Given the description of an element on the screen output the (x, y) to click on. 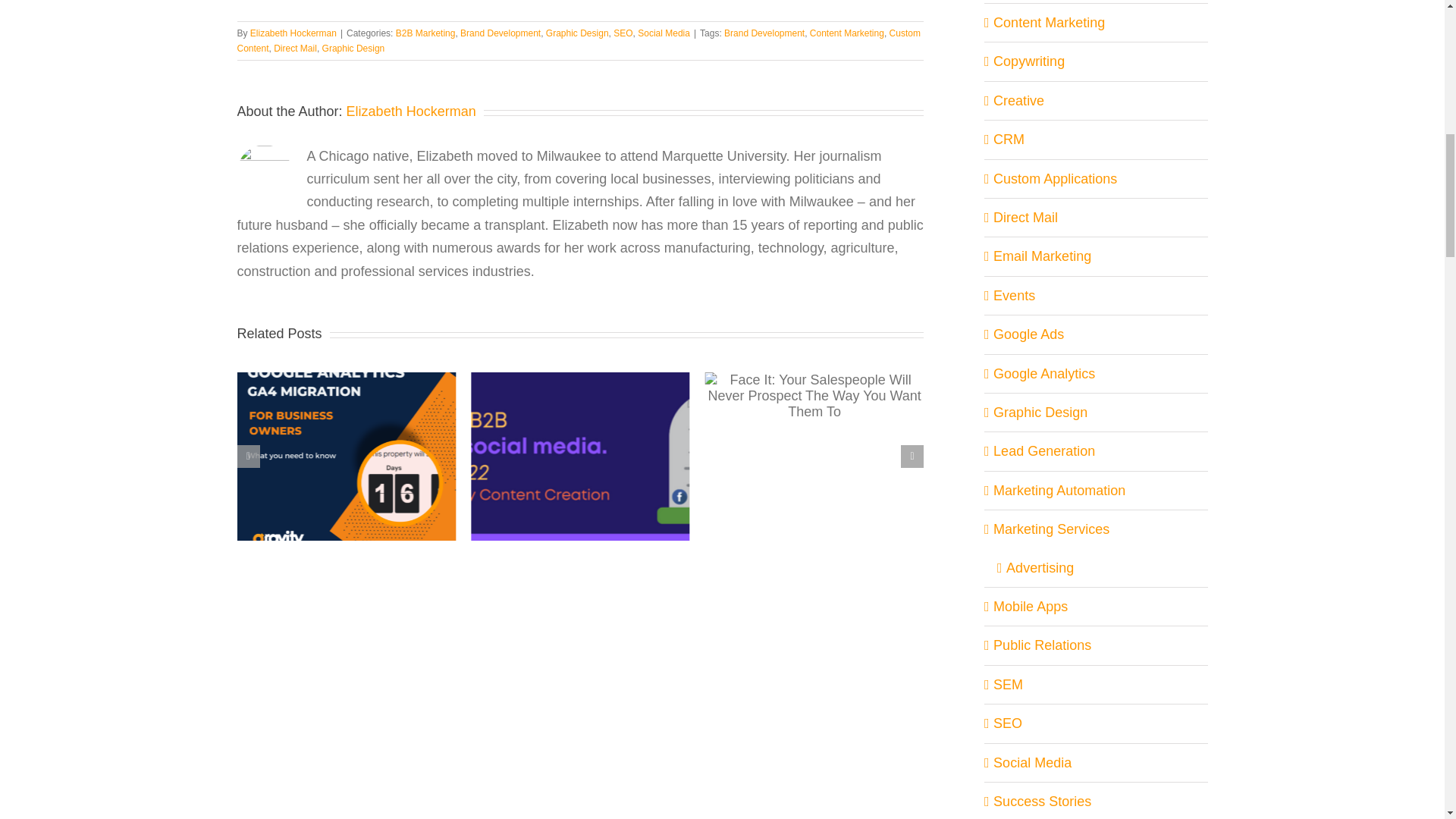
Posts by Elizabeth Hockerman (293, 32)
Posts by Elizabeth Hockerman (411, 111)
